Given the description of an element on the screen output the (x, y) to click on. 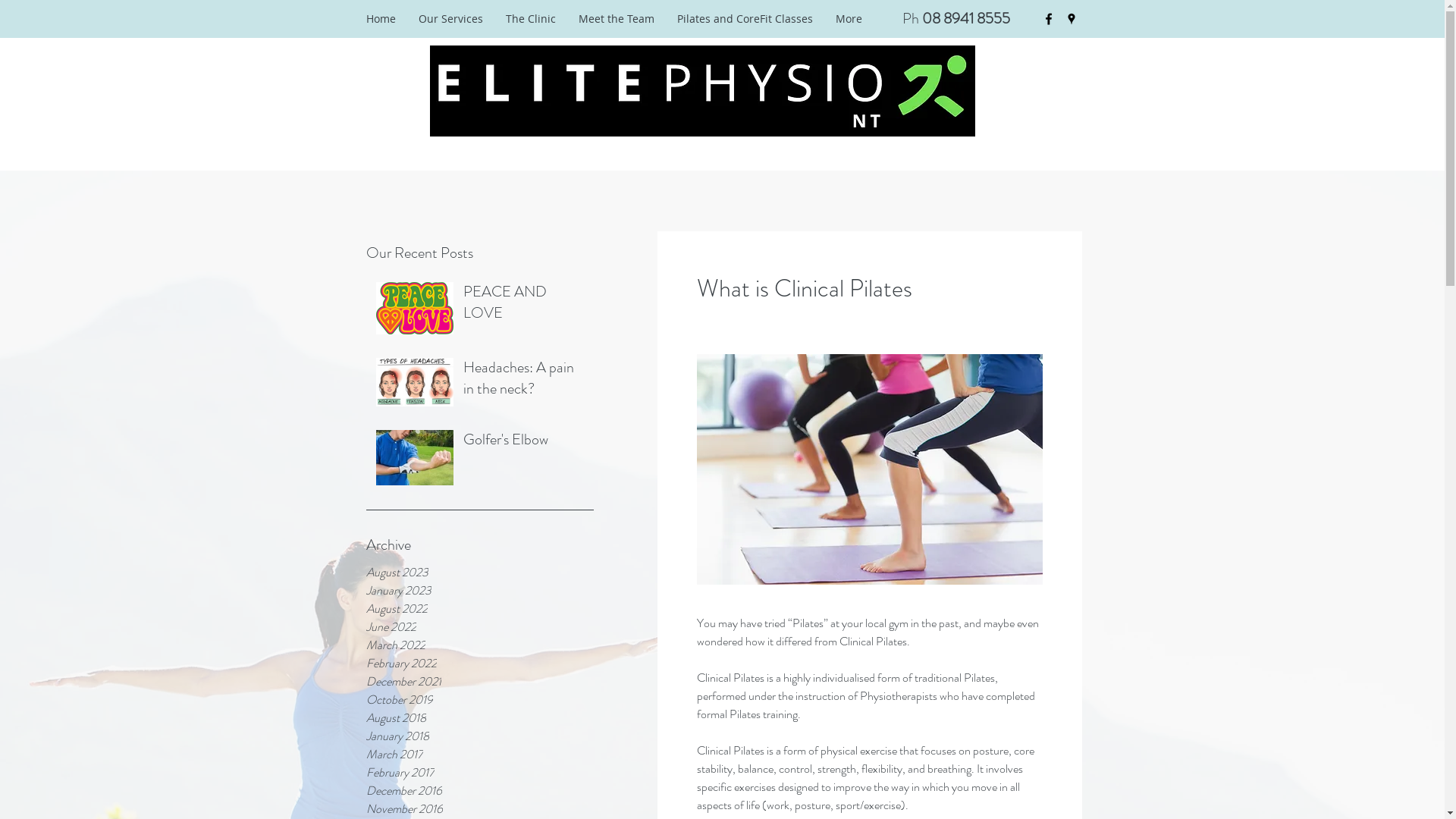
December 2016 Element type: text (479, 790)
August 2018 Element type: text (479, 718)
Headaches: A pain in the neck? Element type: text (522, 381)
August 2022 Element type: text (479, 608)
December 2021 Element type: text (479, 681)
February 2017 Element type: text (479, 772)
August 2023 Element type: text (479, 572)
February 2022 Element type: text (479, 663)
The Clinic Element type: text (530, 18)
October 2019 Element type: text (479, 699)
March 2017 Element type: text (479, 754)
June 2022 Element type: text (479, 627)
Golfer's Elbow Element type: text (522, 442)
Home Element type: text (380, 18)
January 2018 Element type: text (479, 736)
January 2023 Element type: text (479, 590)
PEACE AND LOVE Element type: text (522, 305)
Our Services Element type: text (449, 18)
March 2022 Element type: text (479, 645)
Meet the Team Element type: text (616, 18)
Pilates and CoreFit Classes Element type: text (744, 18)
November 2016 Element type: text (479, 809)
